Given the description of an element on the screen output the (x, y) to click on. 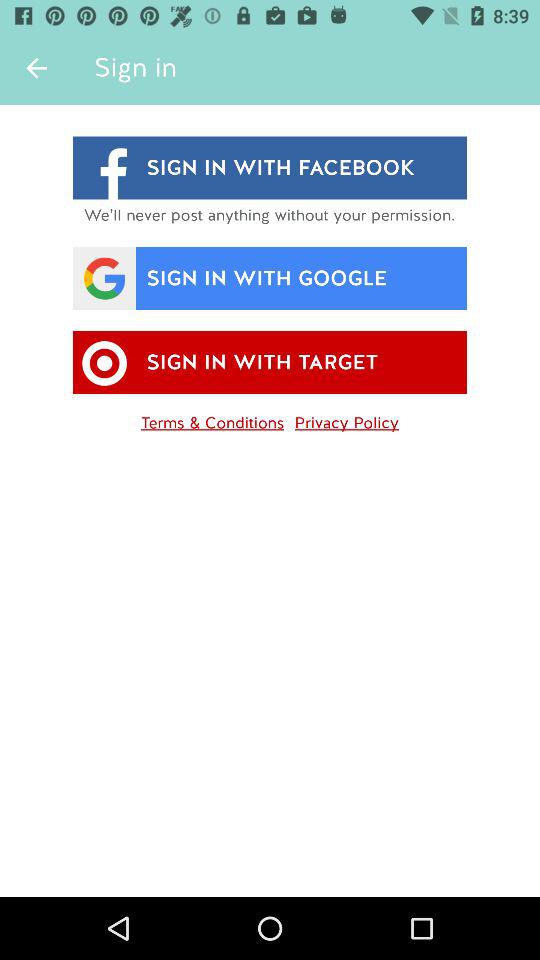
tap item to the left of the sign in (36, 68)
